Given the description of an element on the screen output the (x, y) to click on. 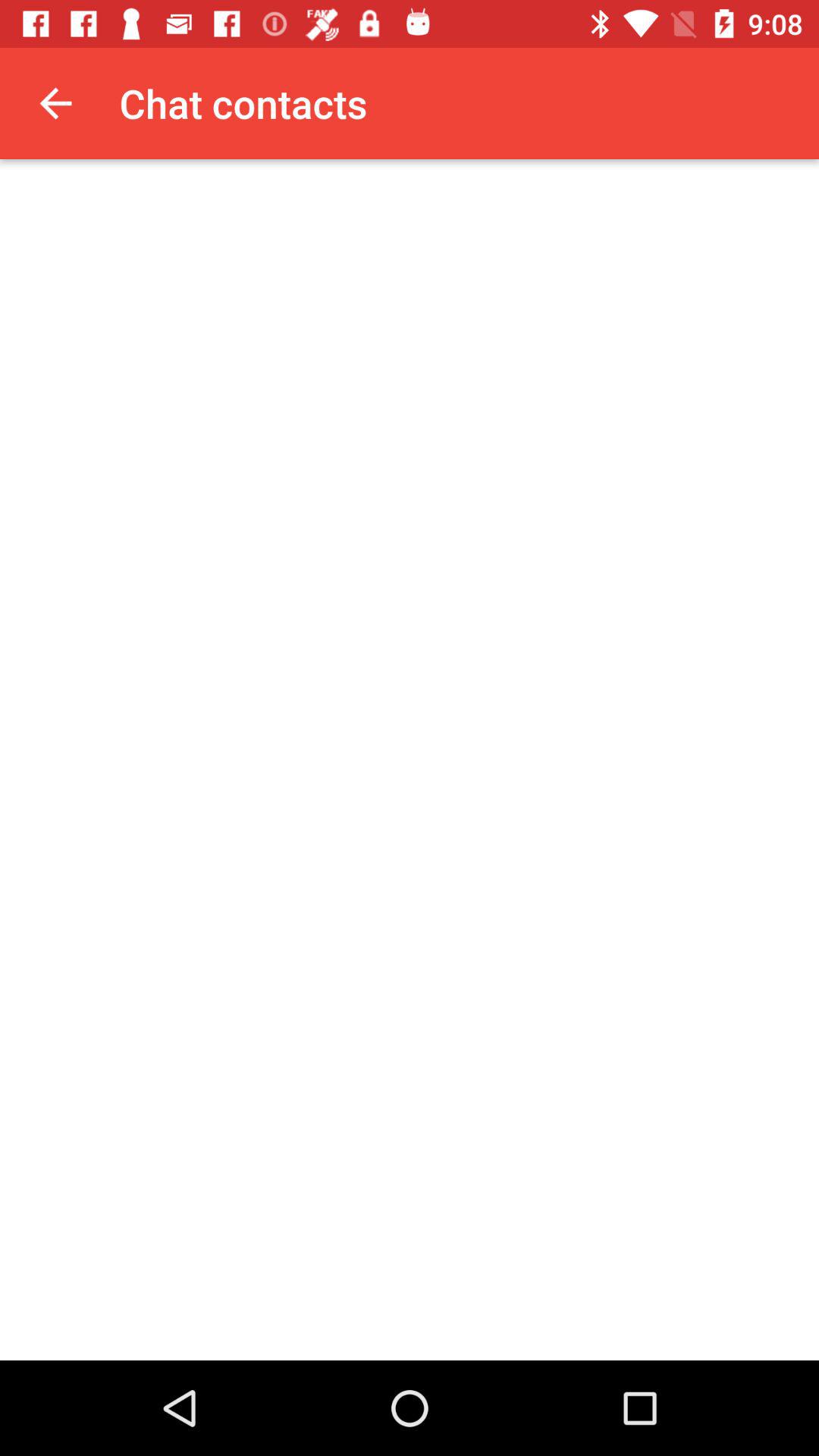
turn on the app to the left of the chat contacts (55, 103)
